Given the description of an element on the screen output the (x, y) to click on. 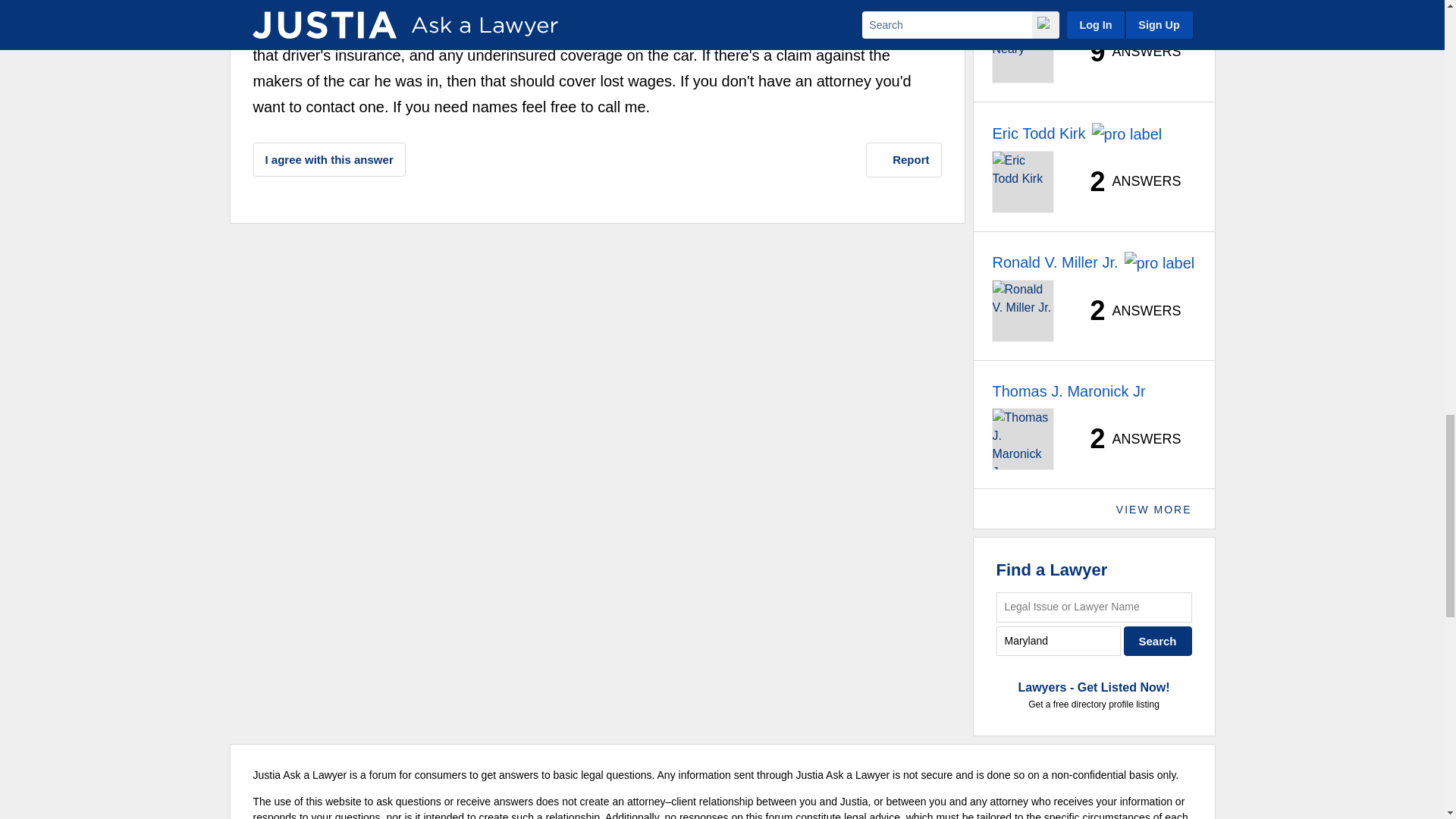
Ask a Lawyer - Leaderboard - Lawyer Photo (1021, 52)
Ask a Lawyer - Leaderboard - Lawyer Name (1040, 7)
Ask a Lawyer - Leaderboard - Lawyer Name (1037, 133)
Search (1158, 641)
Ask a Lawyer - Leaderboard - Lawyer Stats (1127, 52)
Maryland (1058, 641)
Ask a Lawyer - Leaderboard - Lawyer Photo (1021, 181)
Search (1158, 641)
